Given the description of an element on the screen output the (x, y) to click on. 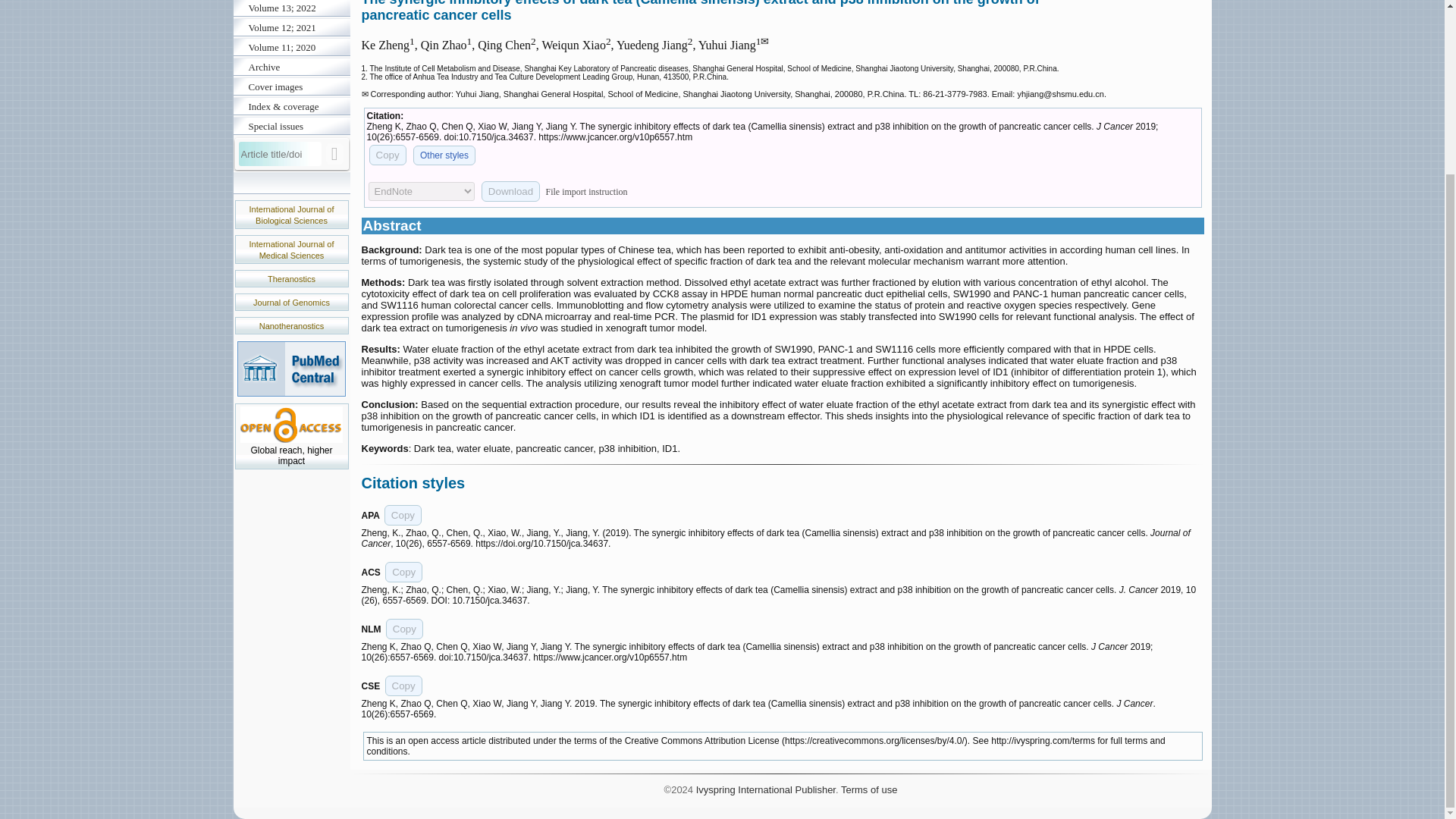
Volume 13; 2022 (291, 9)
Copy (403, 515)
Special issues (291, 126)
Copy to clipboard (403, 571)
Journal of Genomics (291, 302)
Copy to clipboard (403, 515)
Cover images (291, 86)
Copy (404, 629)
Search article by title or doi (334, 153)
Copy to clipboard (387, 154)
Copy (403, 685)
Archive (291, 66)
Other styles (444, 155)
Copy to clipboard (403, 685)
Copy (403, 571)
